Given the description of an element on the screen output the (x, y) to click on. 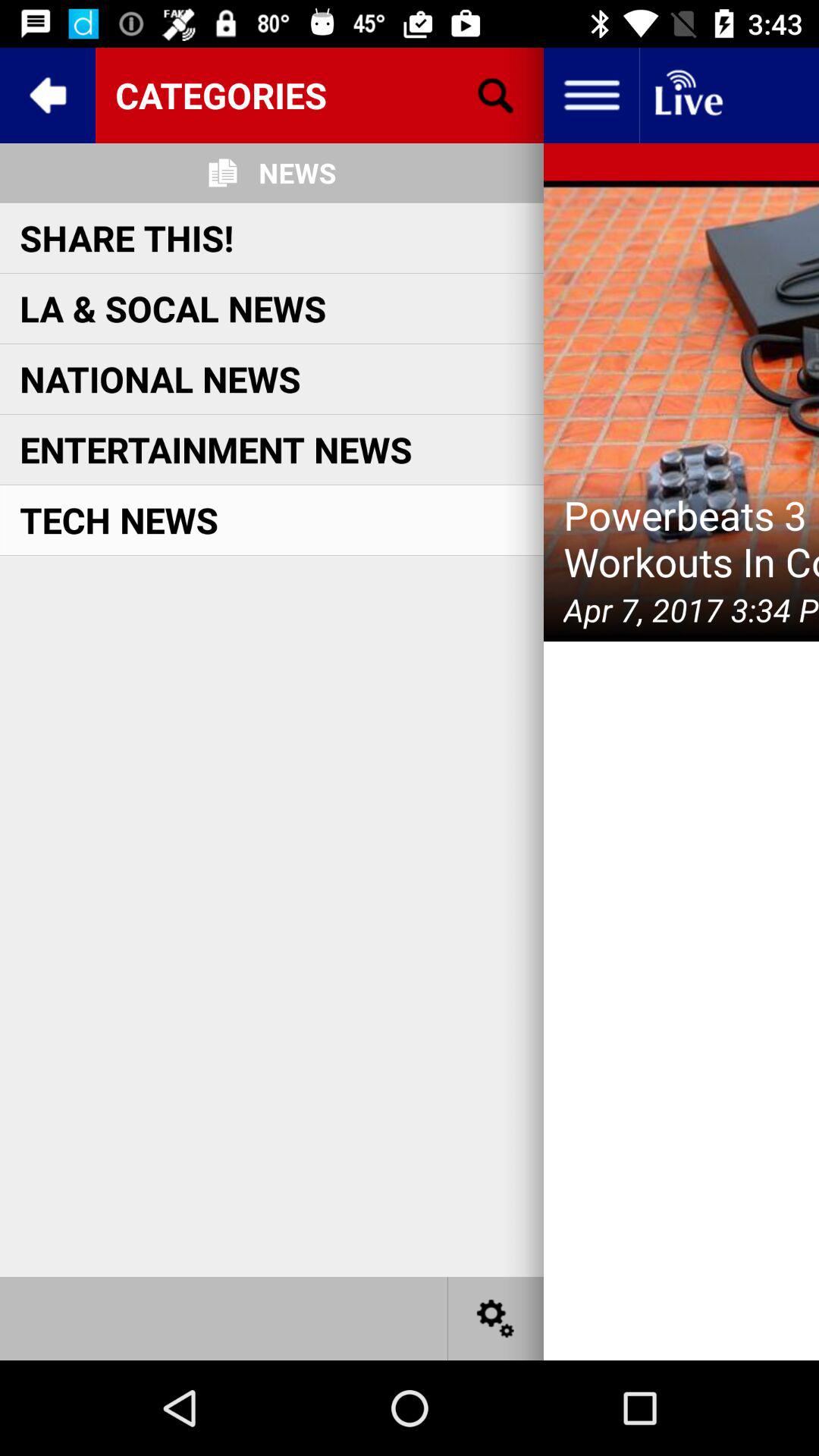
back (47, 95)
